Given the description of an element on the screen output the (x, y) to click on. 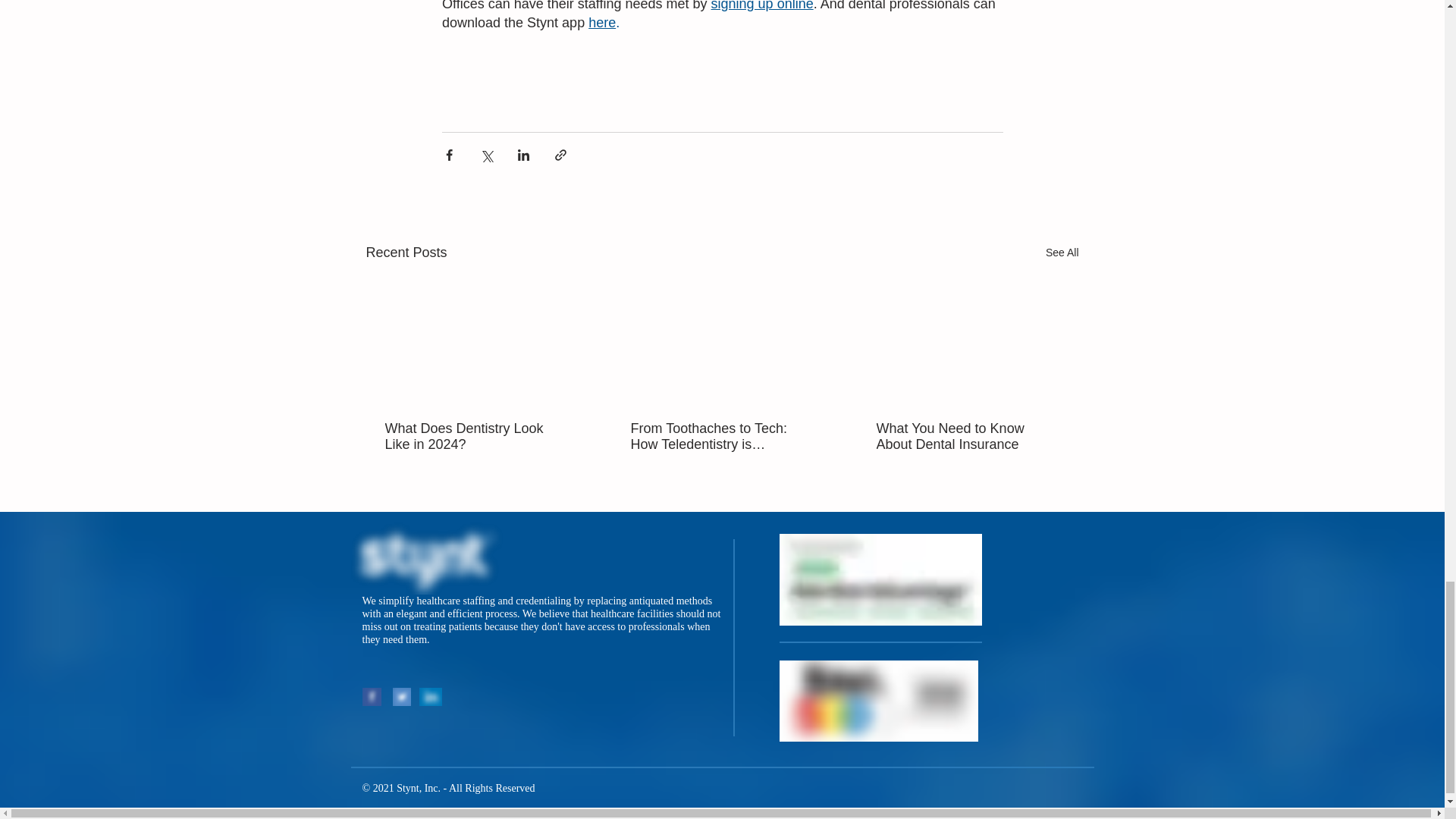
signing up online (761, 5)
ellie.png (879, 579)
What You Need to Know About Dental Insurance (967, 436)
in.png (430, 696)
fb.png (371, 696)
What Does Dentistry Look Like in 2024? (476, 436)
See All (1061, 252)
tw.png (401, 696)
20c754d54f4b07d36cfcd1e4f769f0712c4060ad (878, 701)
Stynt logo 2020 R.png (429, 556)
